Given the description of an element on the screen output the (x, y) to click on. 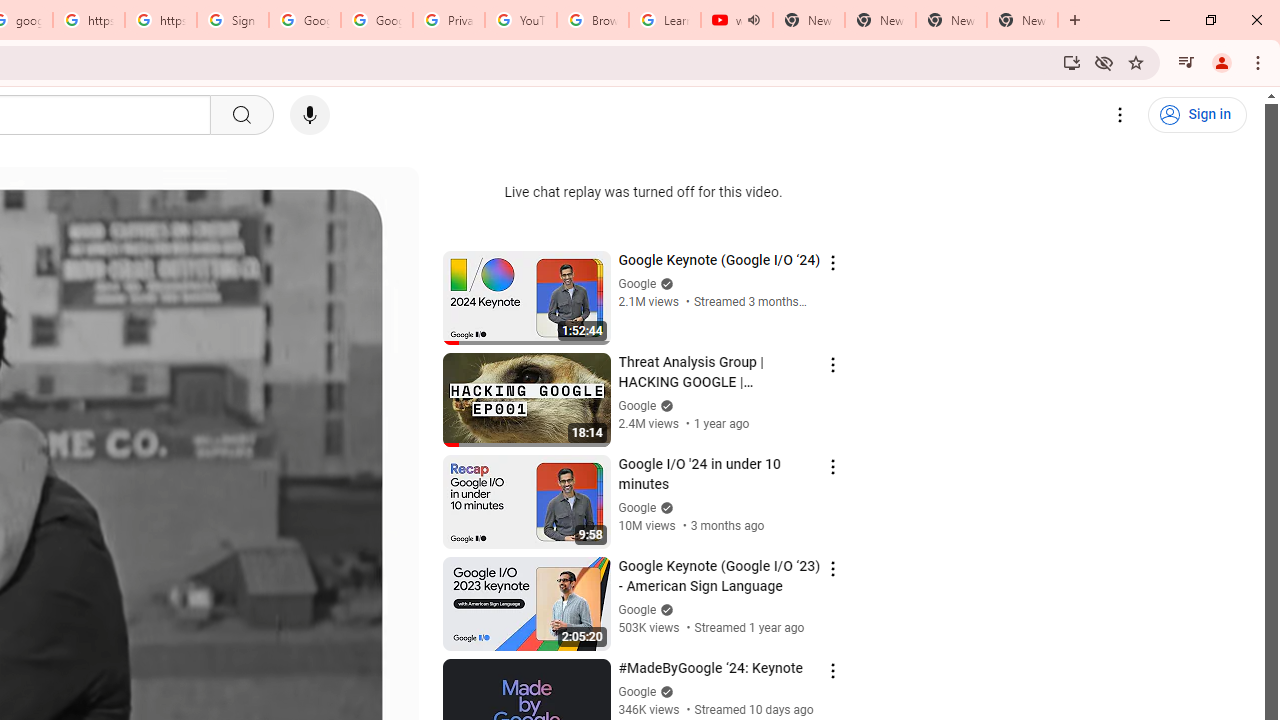
Browse Chrome as a guest - Computer - Google Chrome Help (592, 20)
Sign in - Google Accounts (232, 20)
https://scholar.google.com/ (88, 20)
